Given the description of an element on the screen output the (x, y) to click on. 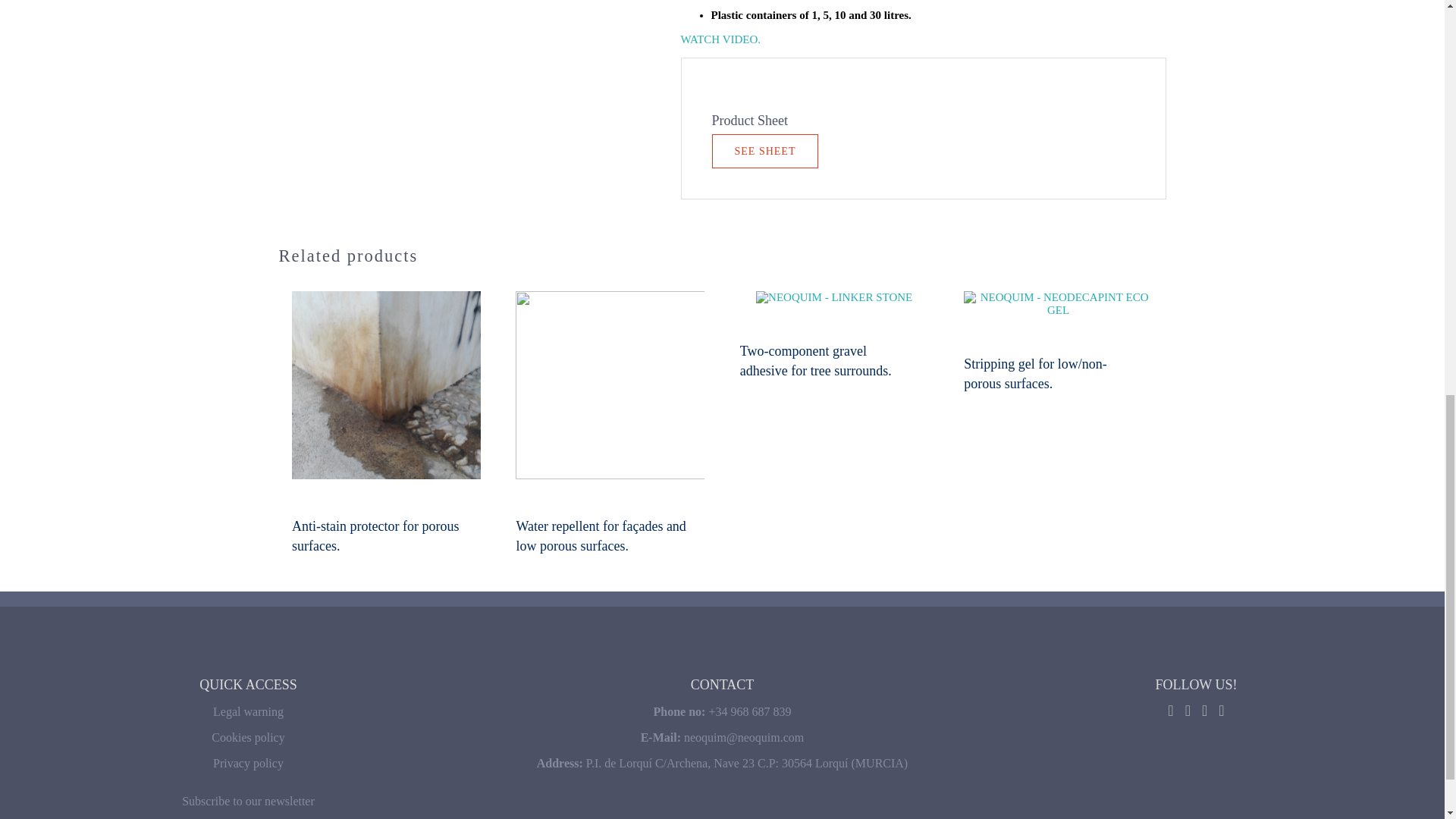
WATCH VIDEO. (721, 39)
SEE SHEET (764, 151)
